Given the description of an element on the screen output the (x, y) to click on. 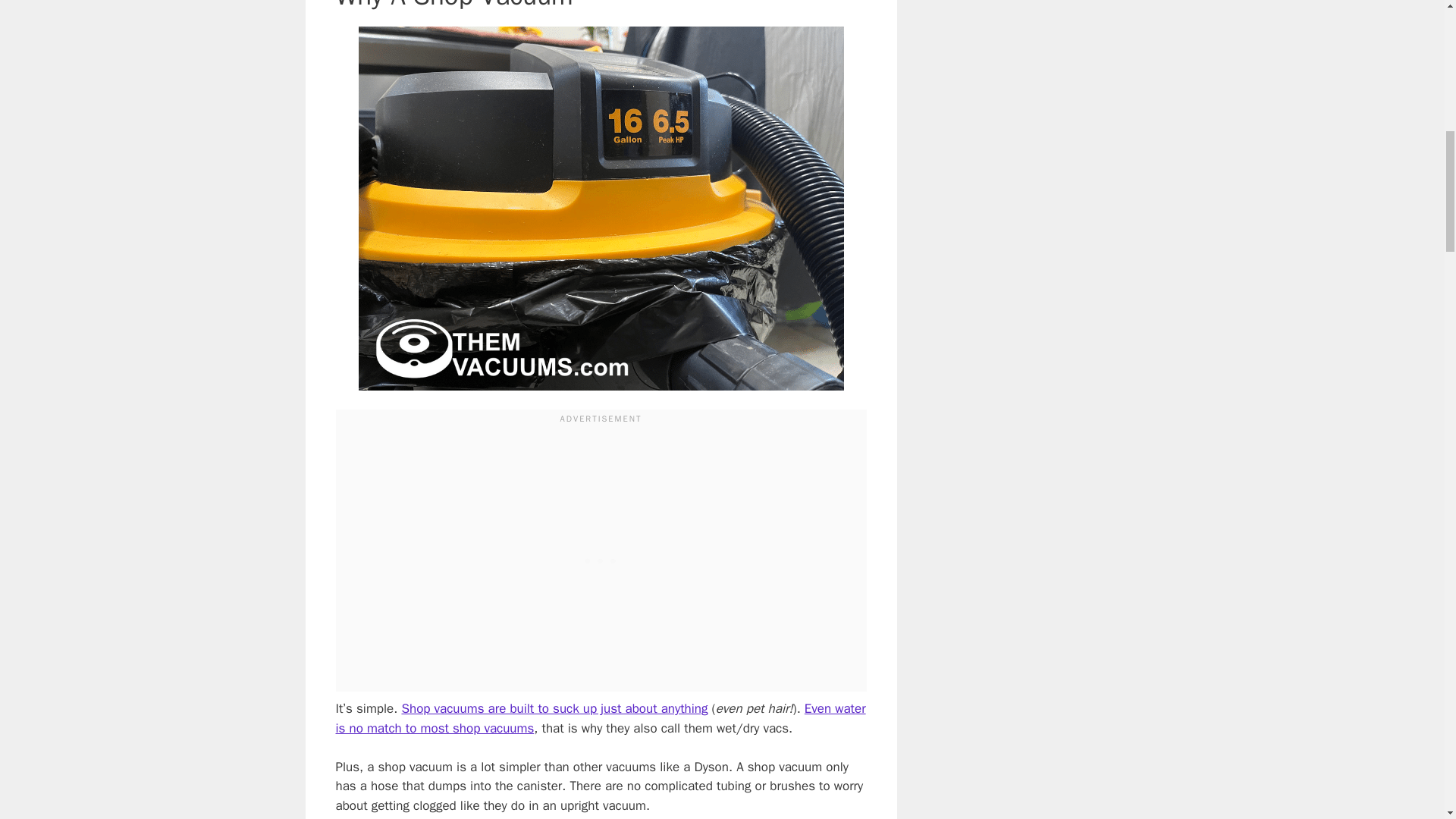
Shop vacuums are built to suck up just about anything (554, 708)
Even water is no match to most shop vacuums (599, 718)
